Given the description of an element on the screen output the (x, y) to click on. 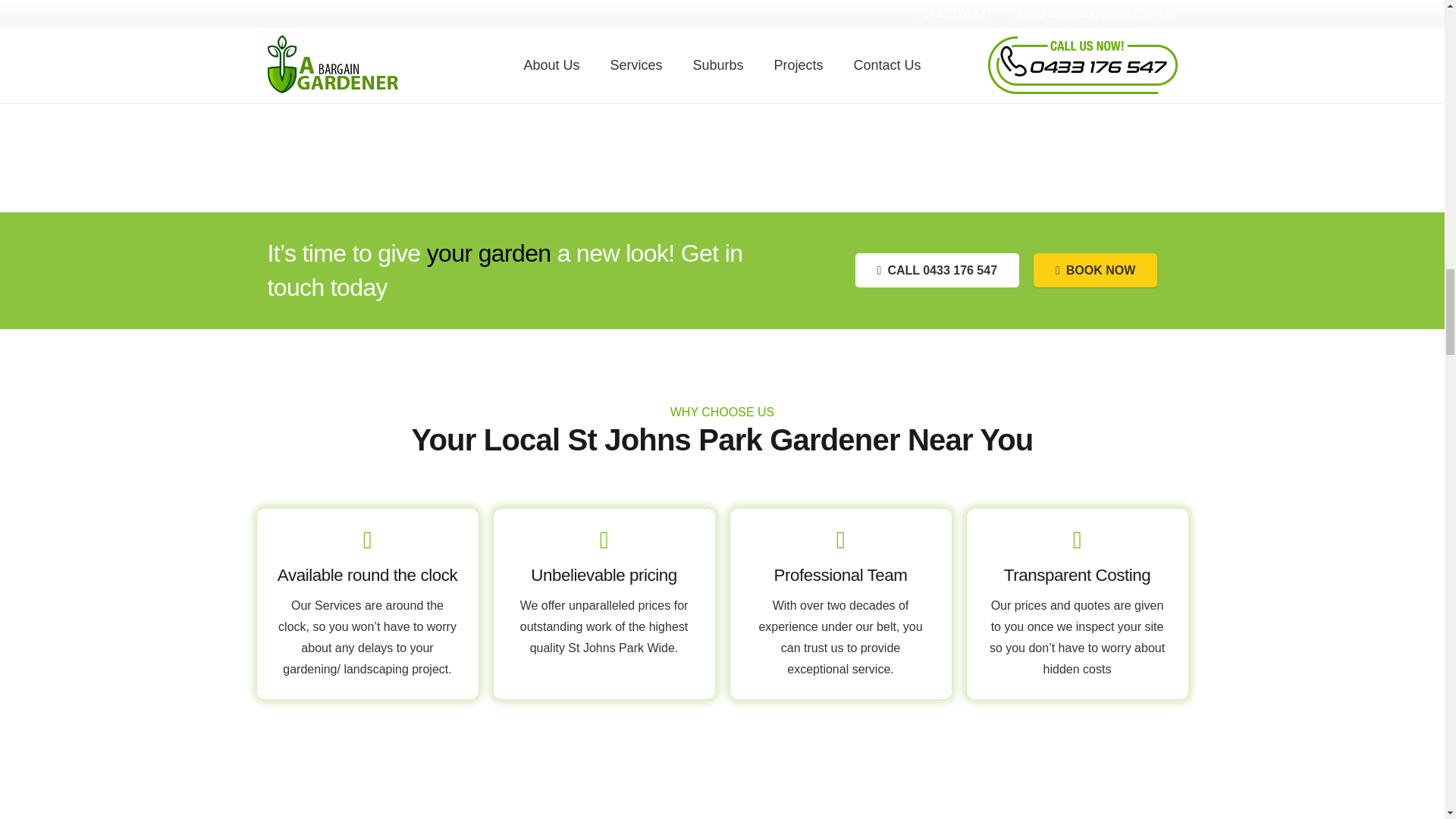
BOOK NOW (1095, 270)
CALL 0433 176 547 (937, 270)
